Given the description of an element on the screen output the (x, y) to click on. 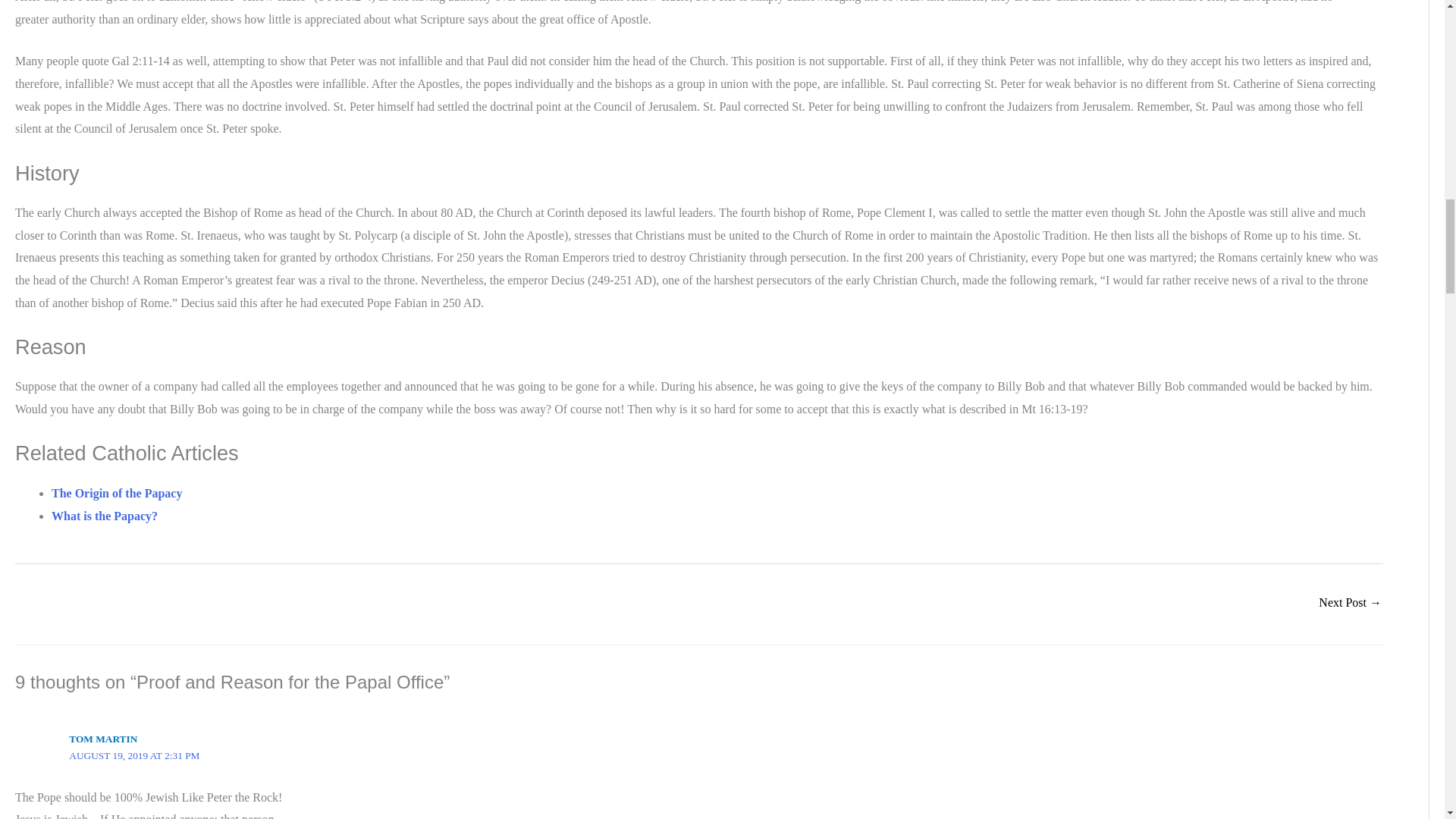
Sacramentals (1350, 603)
What is the Papacy? (103, 515)
The Origin of the Papacy (116, 492)
What is the Papacy? (103, 515)
AUGUST 19, 2019 AT 2:31 PM (133, 755)
The Origin of the Papacy (116, 492)
